Given the description of an element on the screen output the (x, y) to click on. 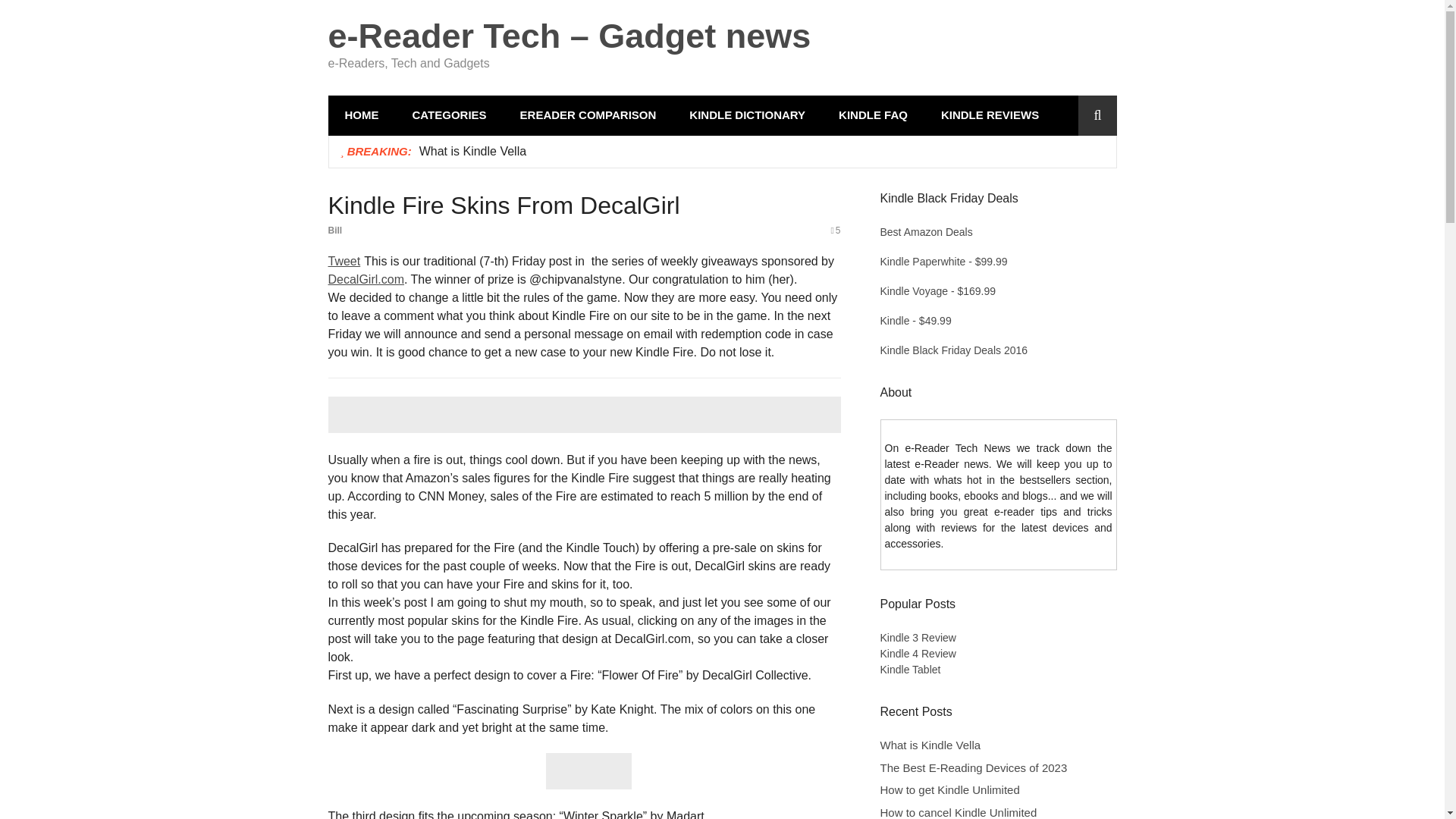
KINDLE DICTIONARY (747, 115)
DecalGirl.com (365, 278)
CATEGORIES (449, 115)
Kindle 3 Review (917, 637)
What is Kindle Vella (472, 150)
HOME (360, 115)
KINDLE FAQ (873, 115)
What is Kindle Vella (472, 150)
Tweet (343, 260)
